Given the description of an element on the screen output the (x, y) to click on. 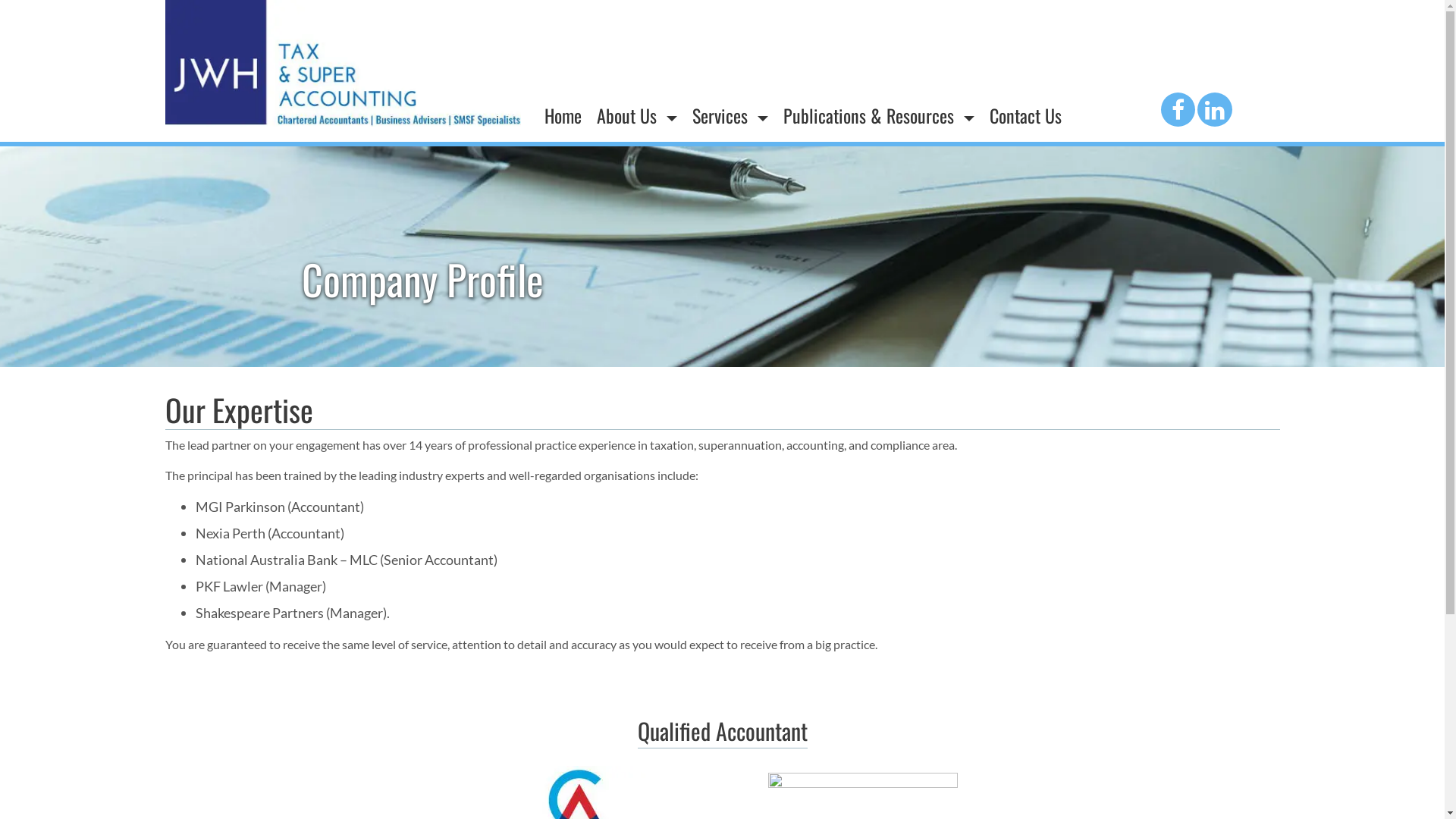
Publications & Resources Element type: text (878, 115)
About Us Element type: text (636, 115)
Services Element type: text (730, 115)
Home Element type: text (562, 115)
Contact Us Element type: text (1025, 115)
